Given the description of an element on the screen output the (x, y) to click on. 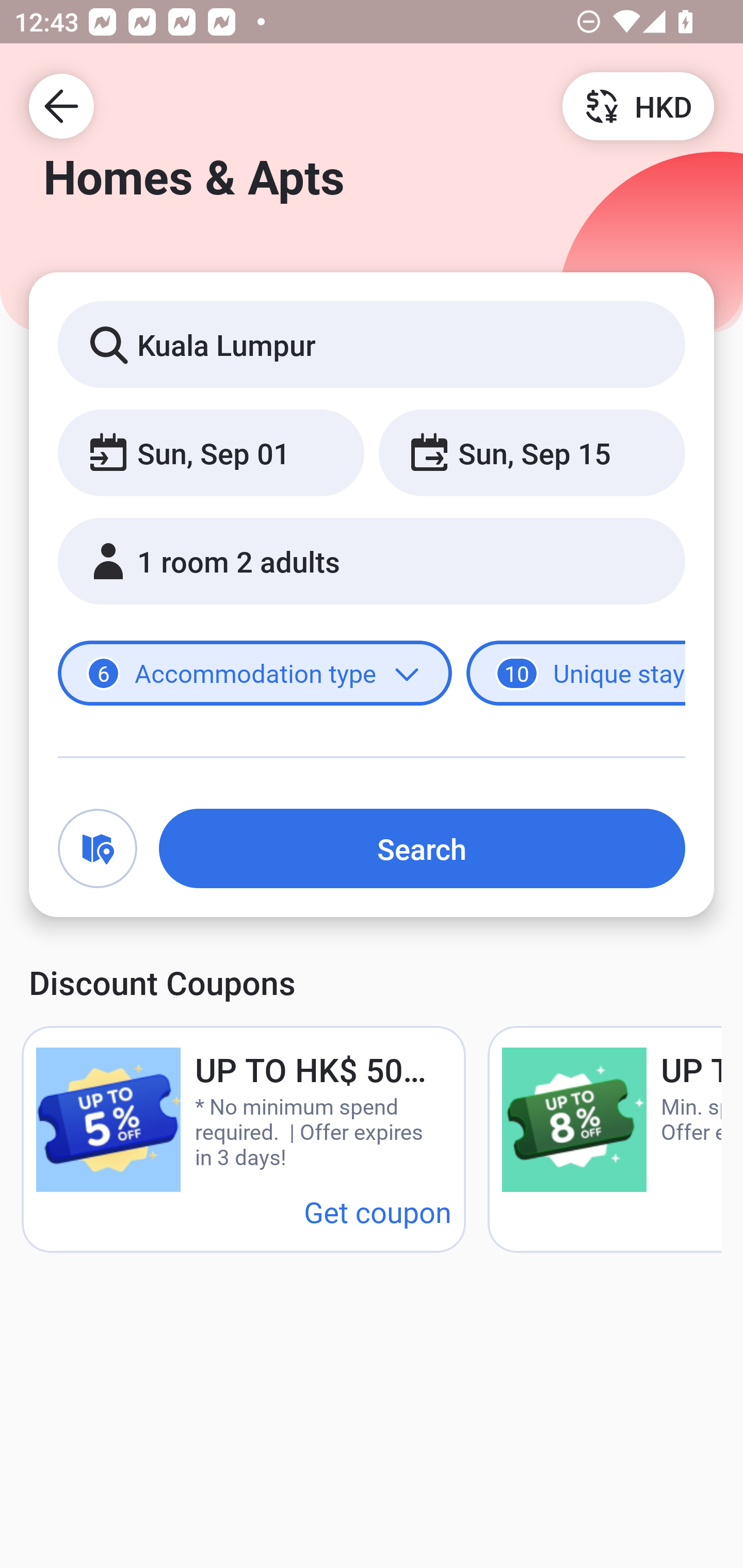
HKD (638, 105)
Kuala Lumpur (371, 344)
Sun, Sep 01 (210, 452)
Sun, Sep 15 (531, 452)
1 room 2 adults (371, 561)
6 Accommodation type (254, 673)
10 Unique stays (575, 673)
Search (422, 848)
Get coupon (377, 1211)
